Given the description of an element on the screen output the (x, y) to click on. 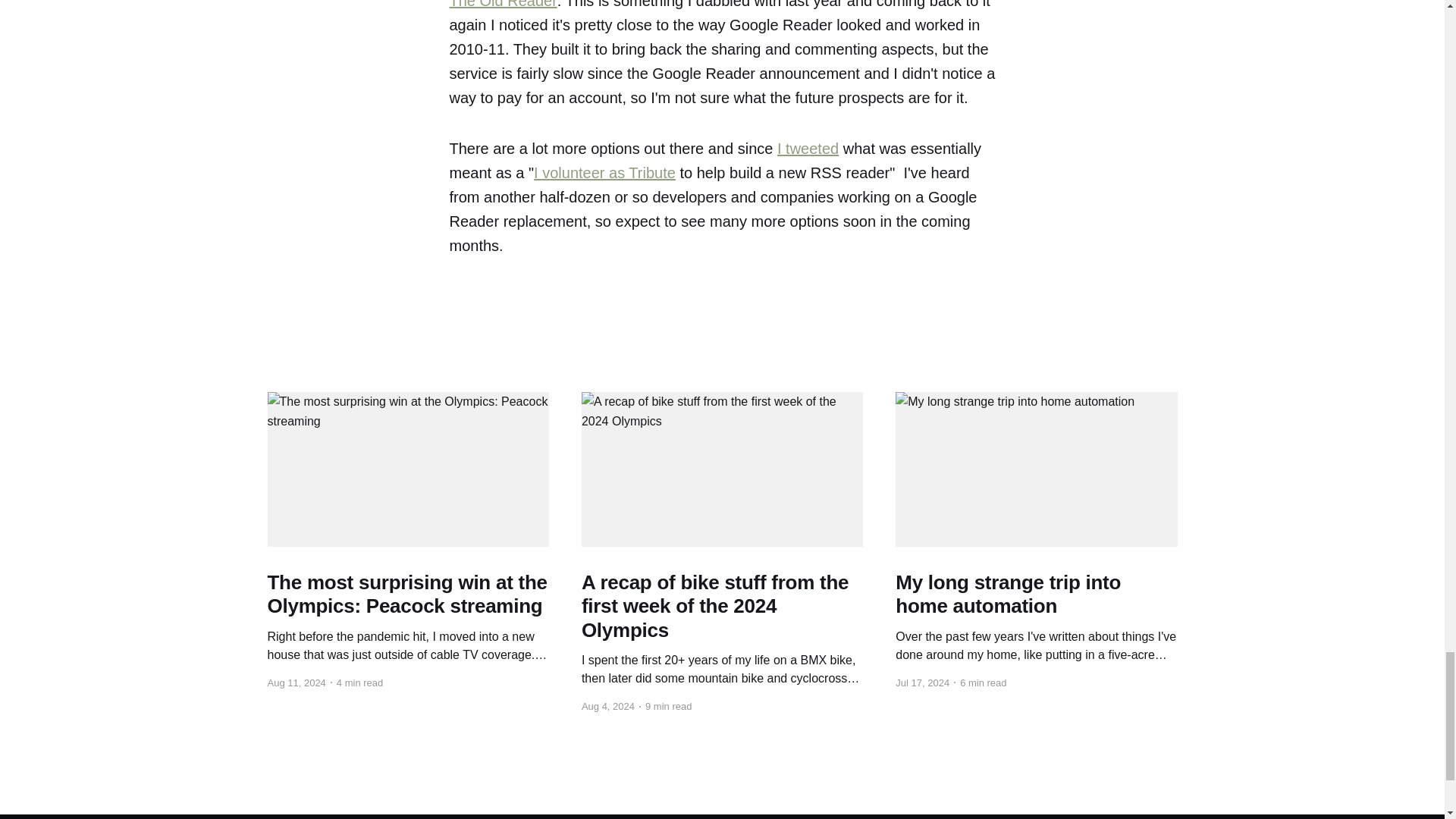
The Old Reader (502, 4)
I volunteer as Tribute (604, 172)
I tweeted (807, 148)
